Given the description of an element on the screen output the (x, y) to click on. 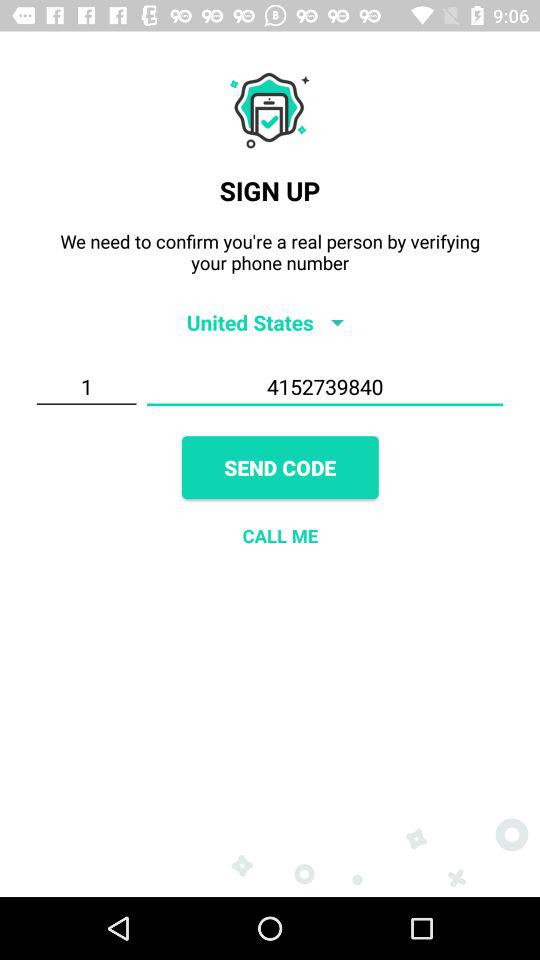
press icon below send code icon (280, 535)
